Given the description of an element on the screen output the (x, y) to click on. 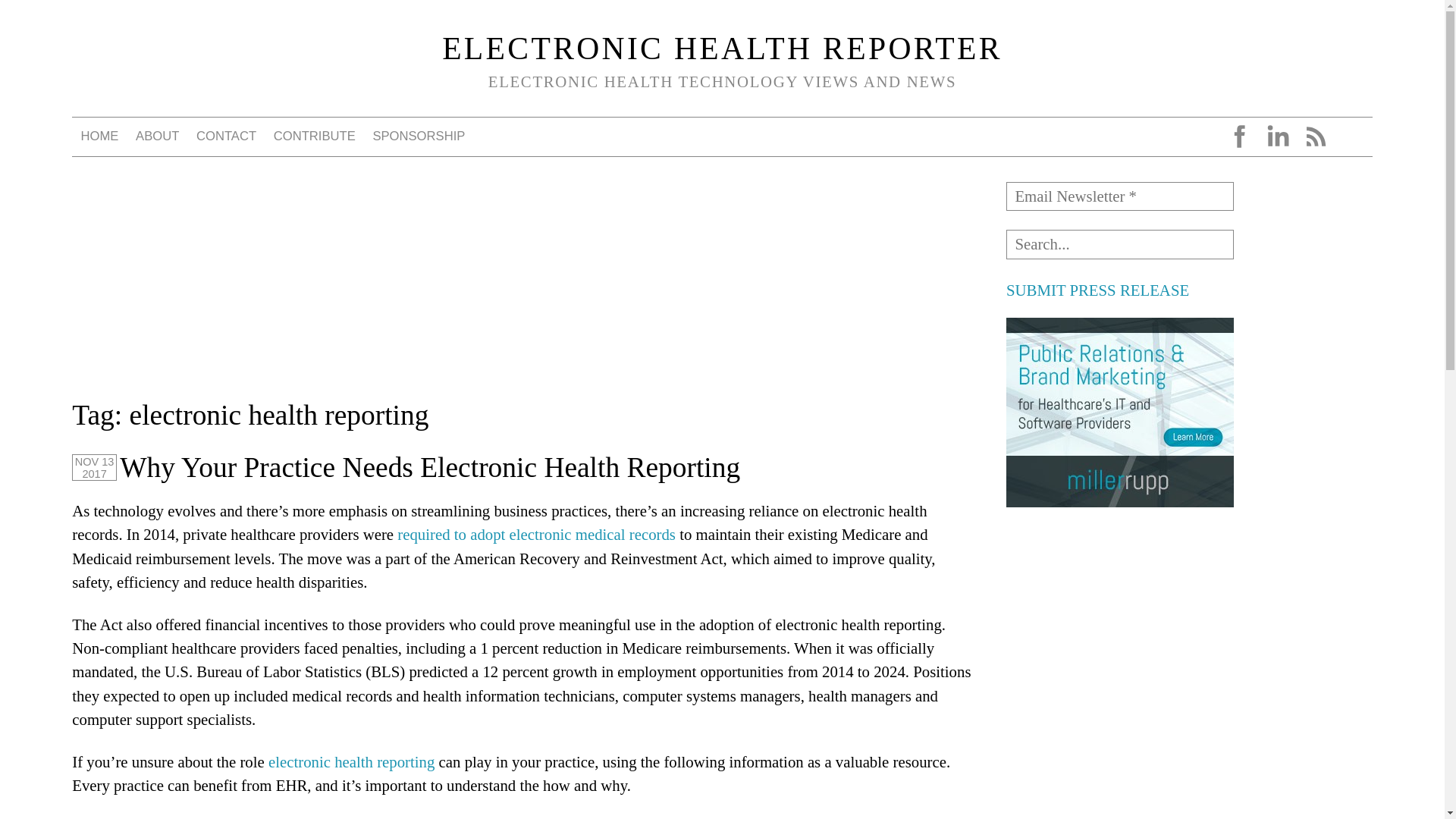
CONTACT (226, 136)
RSS FEED (1315, 136)
Why Your Practice Needs Electronic Health Reporting (429, 467)
FACEBOOK (1239, 136)
HOME (99, 136)
ELECTRONIC HEALTH REPORTER (722, 48)
Email Newsletter (1119, 195)
Advertisement (1119, 624)
required to adopt electronic medical records (536, 533)
electronic health reporting (353, 761)
